Given the description of an element on the screen output the (x, y) to click on. 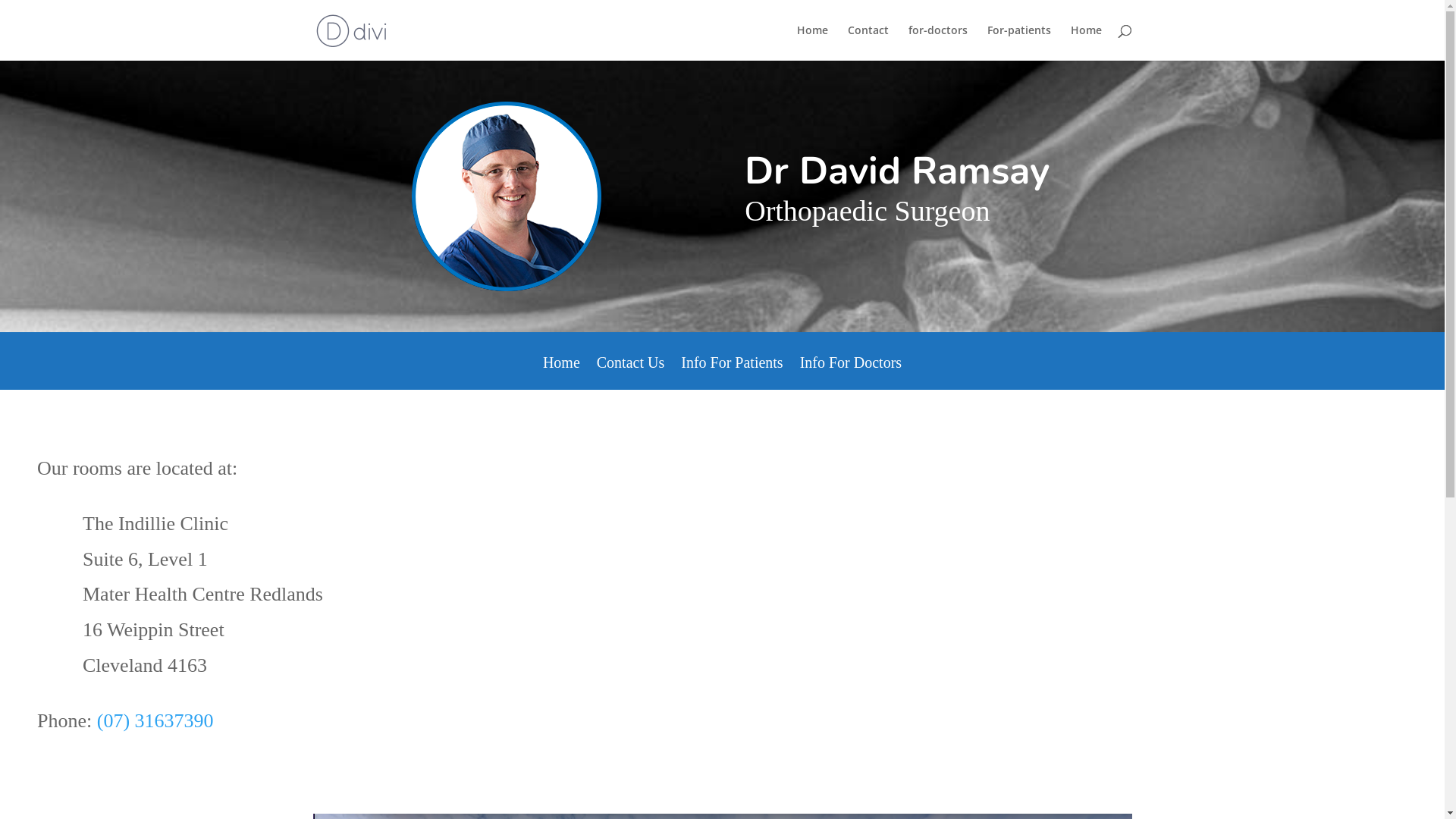
(07) 31637390 Element type: text (155, 720)
Info For Patients Element type: text (731, 373)
Contact Us Element type: text (630, 373)
Contact Element type: text (867, 42)
Home Element type: text (1085, 42)
Home Element type: text (561, 373)
Info For Doctors Element type: text (850, 373)
for-doctors Element type: text (937, 42)
For-patients Element type: text (1019, 42)
Home Element type: text (811, 42)
